Given the description of an element on the screen output the (x, y) to click on. 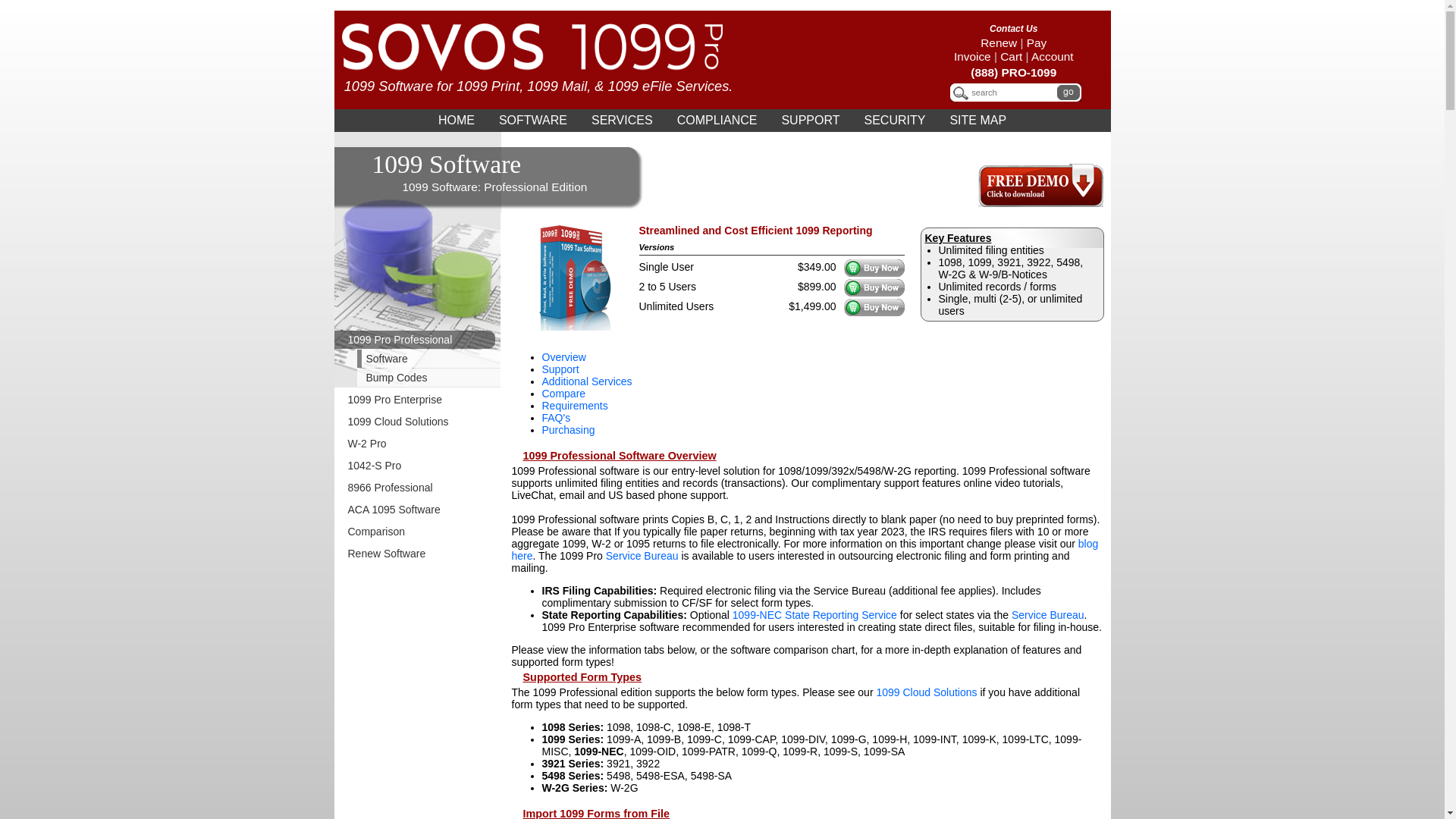
1042-S Pro Element type: text (416, 465)
Service Bureau Element type: text (641, 555)
Overview Element type: text (563, 357)
Requirements Element type: text (574, 405)
1099 Cloud Solutions Element type: text (925, 692)
ACA 1095 Software Element type: text (416, 509)
HOME Element type: text (456, 120)
SERVICES Element type: text (622, 120)
1099 Cloud Solutions Element type: text (416, 421)
1099 Pro Enterprise Element type: text (416, 399)
(888) PRO-1099 Element type: text (1013, 71)
Additional Services Element type: text (586, 381)
SOFTWARE Element type: text (532, 120)
Bump Codes Element type: text (425, 377)
Compare Element type: text (563, 393)
FAQ's Element type: text (555, 417)
SECURITY Element type: text (894, 120)
Service Bureau Element type: text (1047, 614)
blog here Element type: text (804, 549)
Download Demo! Element type: hover (569, 326)
Software Element type: text (425, 358)
Contact Us Element type: text (1013, 28)
8966 Professional Element type: text (416, 487)
Purchasing Element type: text (567, 429)
Comparison Element type: text (416, 531)
Account Element type: text (1052, 56)
Renew Element type: text (998, 42)
1099 Pro Professional Element type: text (416, 339)
SUPPORT Element type: text (809, 120)
1099-NEC State Reporting Service Element type: text (814, 614)
W-2 Pro Element type: text (416, 443)
Download FREE Demo! Element type: hover (1040, 203)
Support Element type: text (559, 369)
Cart Element type: text (1011, 56)
Pay Invoice Element type: text (999, 49)
COMPLIANCE Element type: text (716, 120)
Renew Software Element type: text (416, 553)
SITE MAP Element type: text (977, 120)
